Given the description of an element on the screen output the (x, y) to click on. 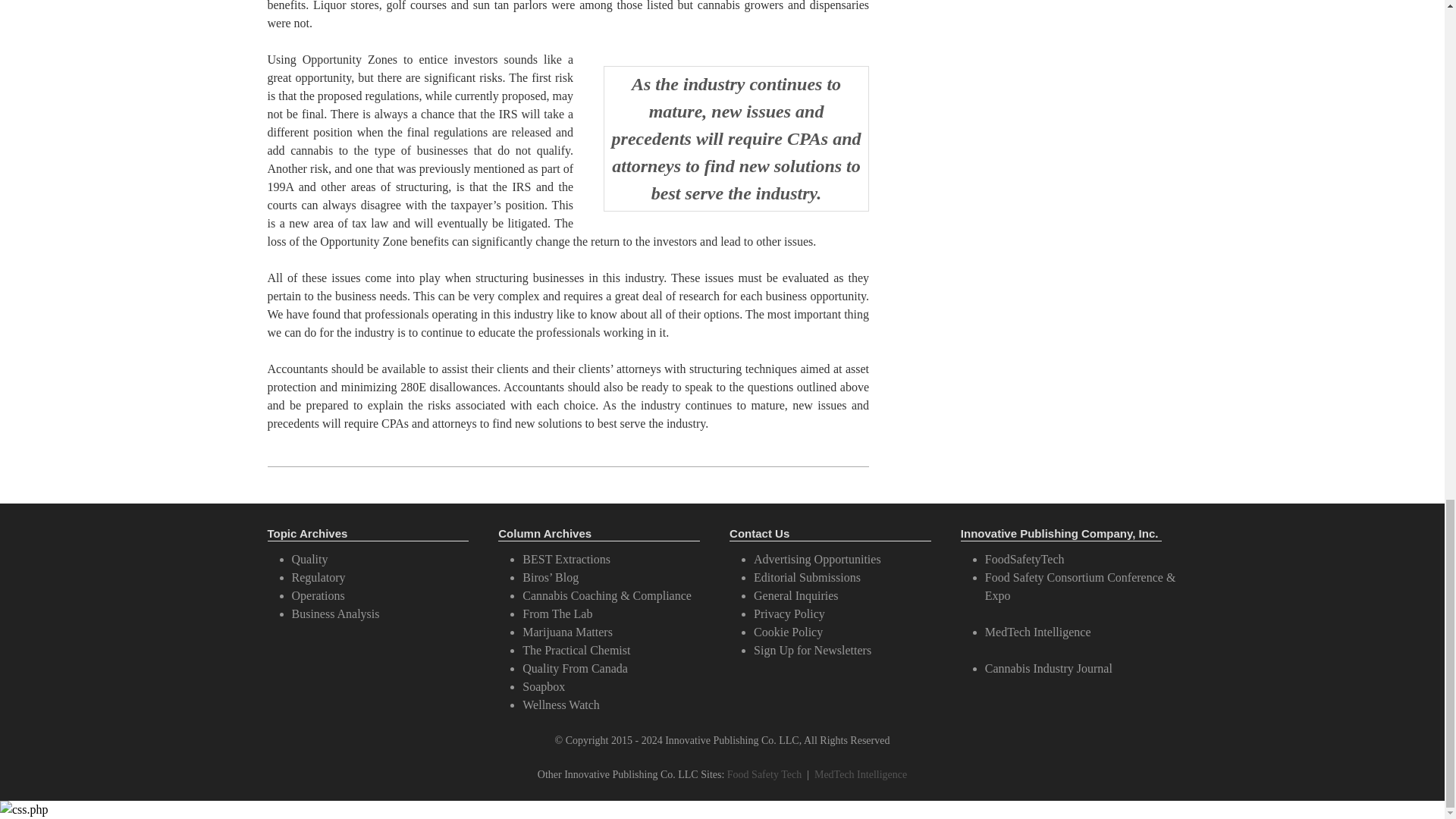
Regulatory (318, 576)
BEST Extractions (566, 558)
Business Analysis (334, 613)
Operations (317, 594)
Quality (309, 558)
